Given the description of an element on the screen output the (x, y) to click on. 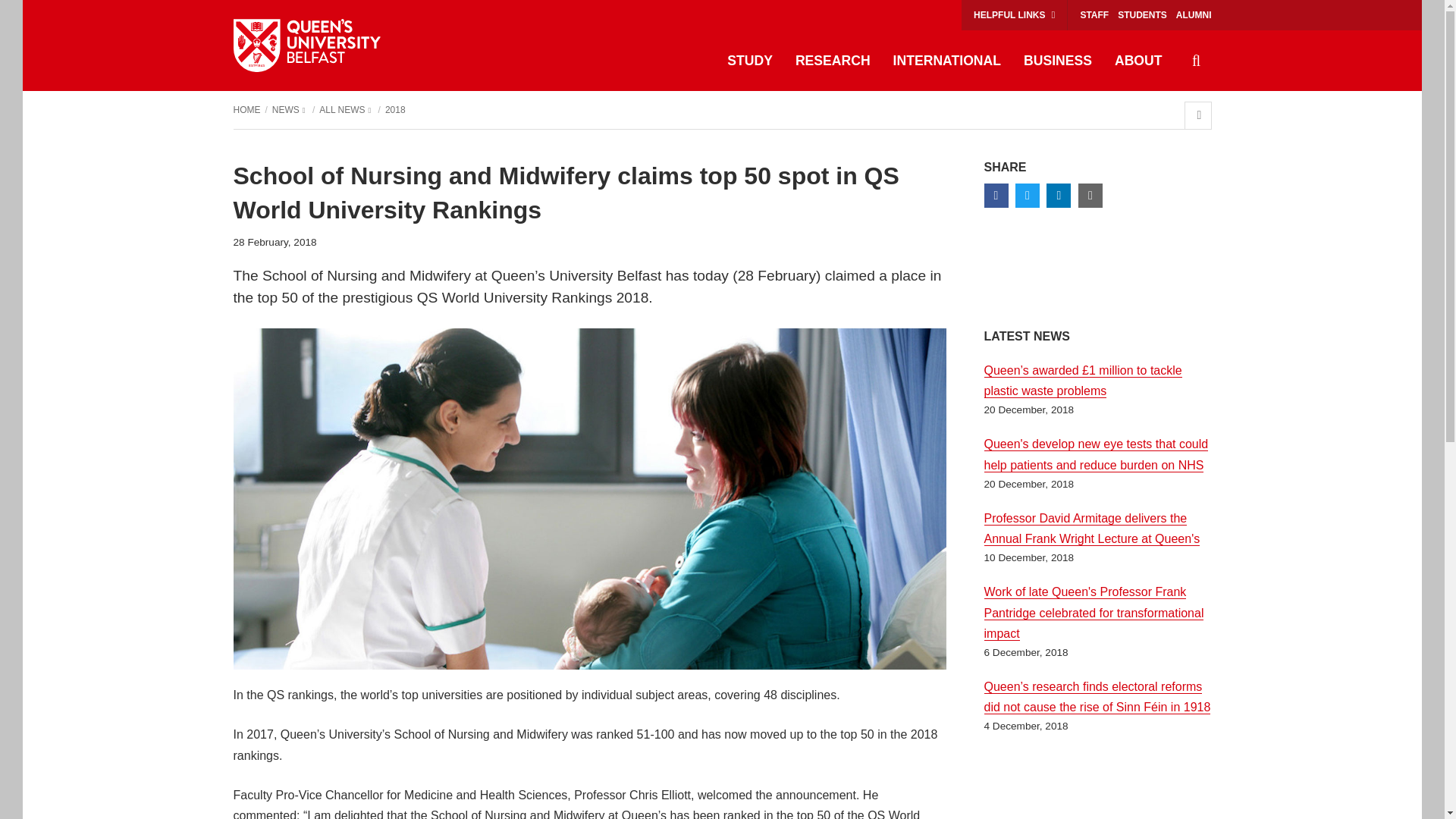
SKIP TO CONTENT (40, 15)
RESEARCH (833, 60)
STUDENTS (1142, 15)
HELPFUL LINKS (1013, 15)
STAFF (1094, 15)
Queen's University Belfast (306, 45)
ALUMNI (1193, 15)
STUDY (750, 60)
